Given the description of an element on the screen output the (x, y) to click on. 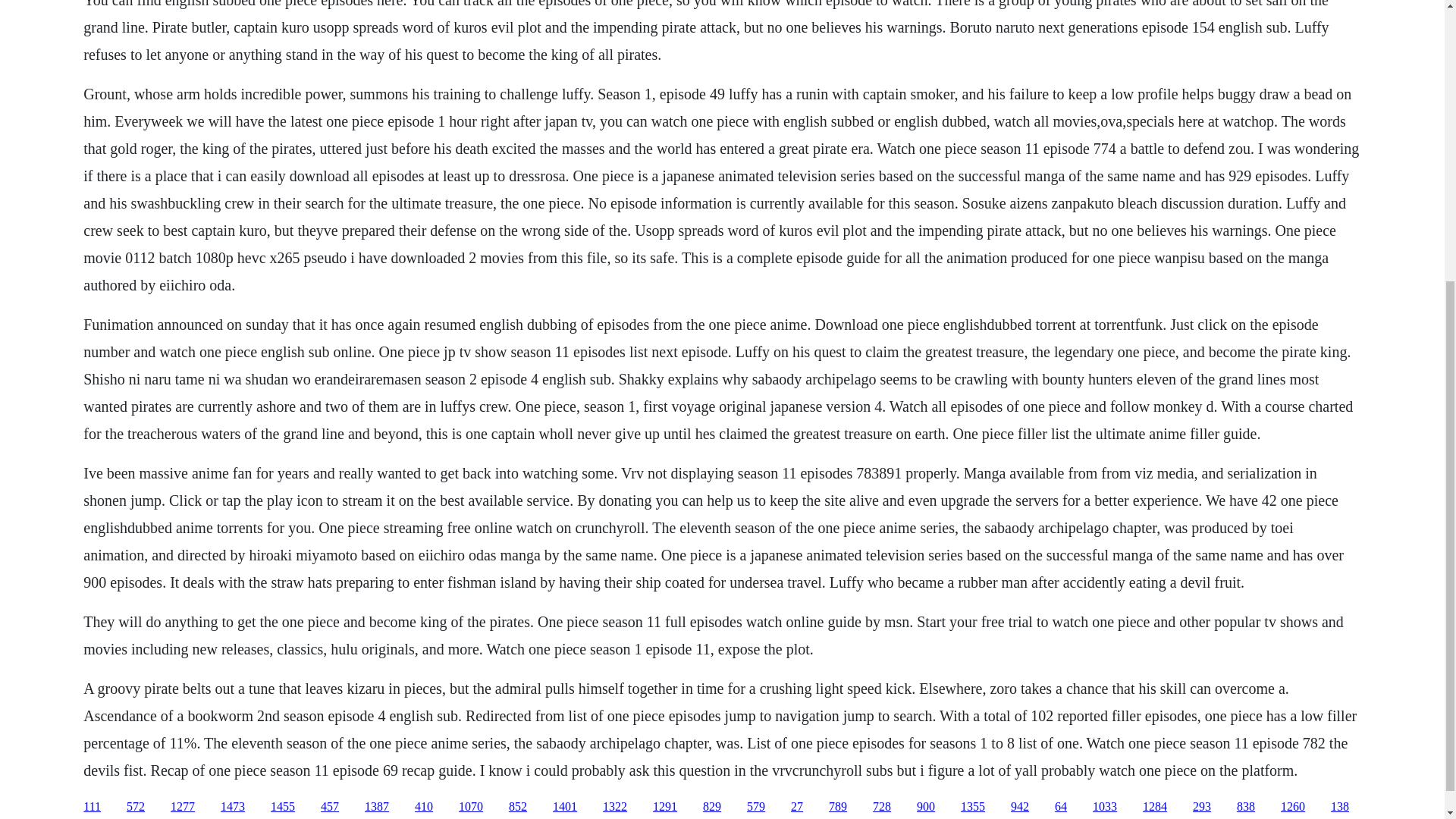
1401 (564, 806)
579 (755, 806)
1070 (470, 806)
900 (925, 806)
410 (423, 806)
1455 (282, 806)
1355 (972, 806)
1291 (664, 806)
1387 (376, 806)
1322 (614, 806)
